Given the description of an element on the screen output the (x, y) to click on. 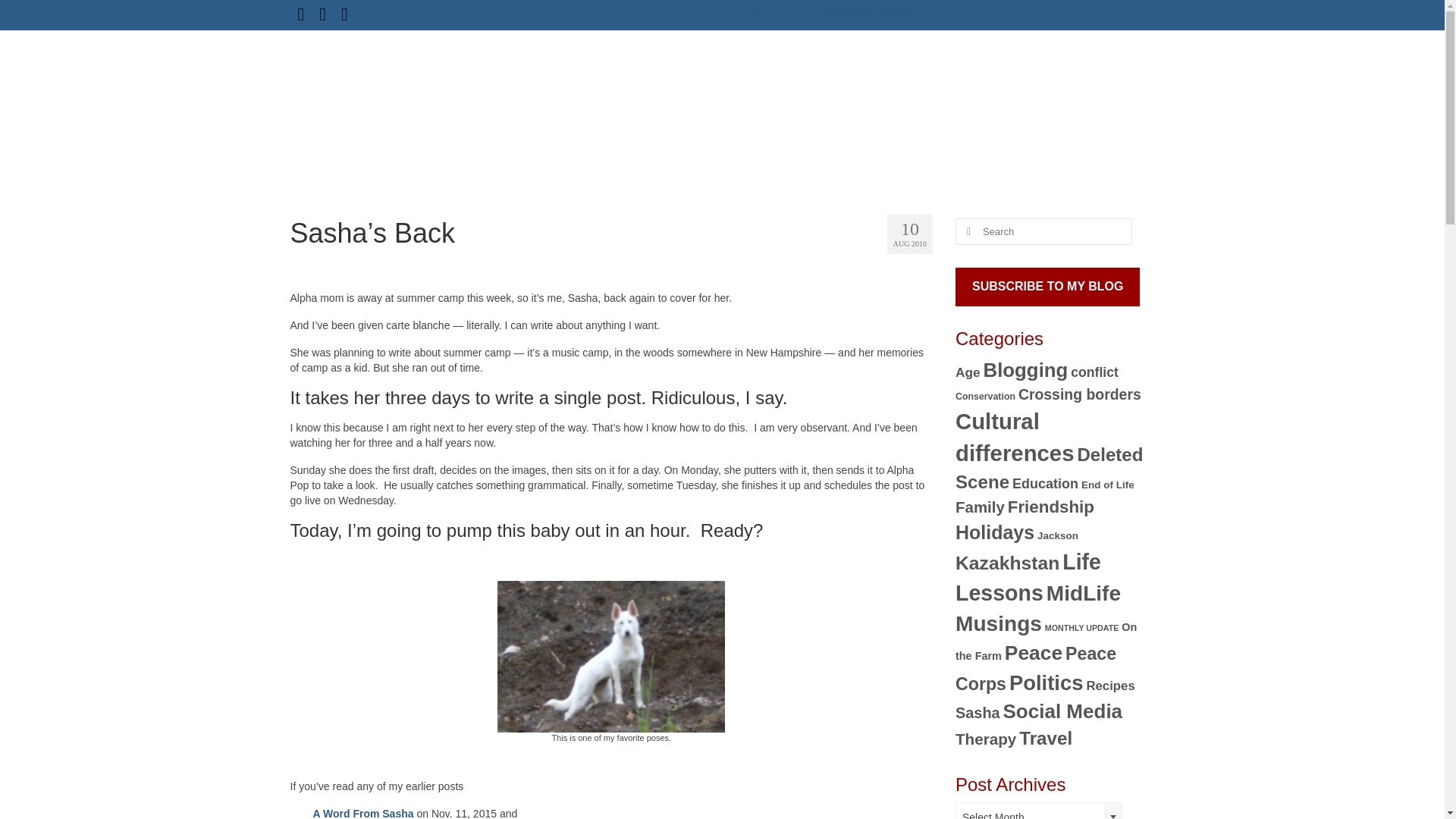
CONTACT (1113, 83)
SUBSCRIBE for email notifications (821, 14)
ABOUT (743, 83)
LEARN MORE (1022, 83)
Select Month (1038, 811)
WELCOME (666, 83)
Janet Givens (366, 89)
Janet Givens (366, 89)
A Word From Sasha (363, 813)
BLOG (807, 83)
